Given the description of an element on the screen output the (x, y) to click on. 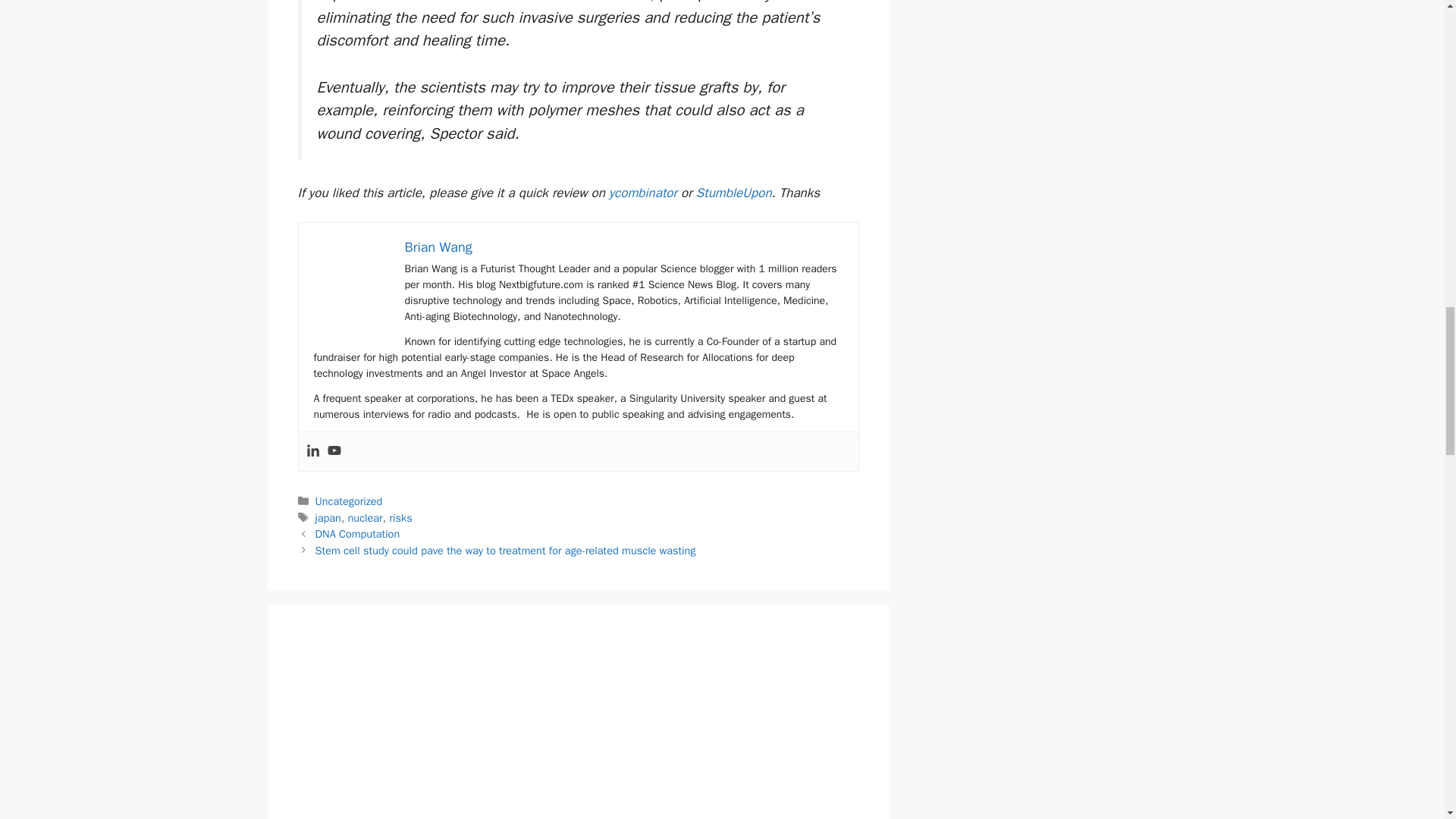
risks (400, 517)
nuclear (364, 517)
Brian Wang (437, 247)
ycombinator (642, 192)
StumbleUpon (733, 192)
japan (327, 517)
Uncategorized (348, 500)
DNA Computation (357, 533)
